Given the description of an element on the screen output the (x, y) to click on. 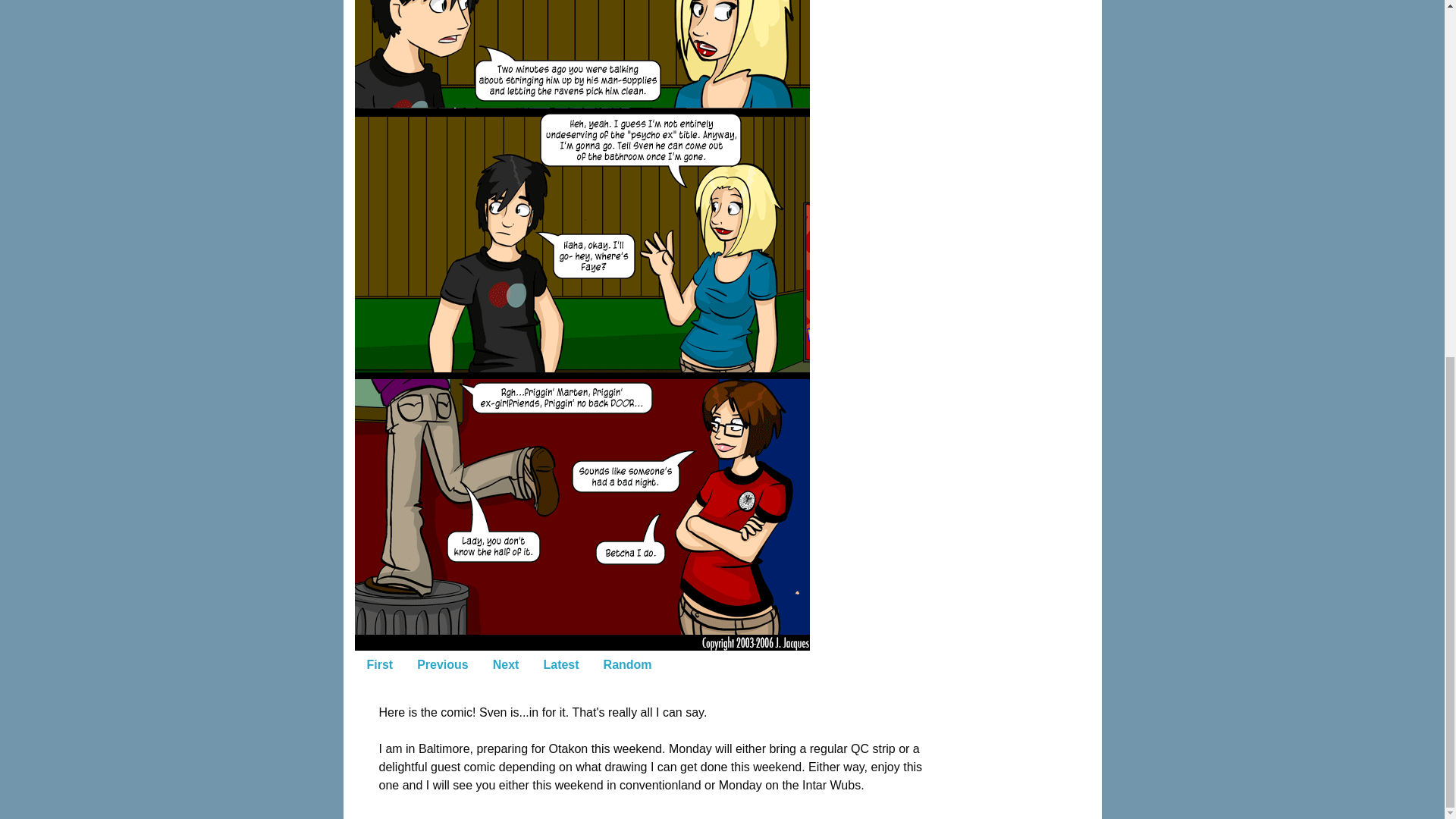
Previous (442, 664)
Random (627, 664)
Next (505, 664)
Latest (561, 664)
First (380, 664)
